Given the description of an element on the screen output the (x, y) to click on. 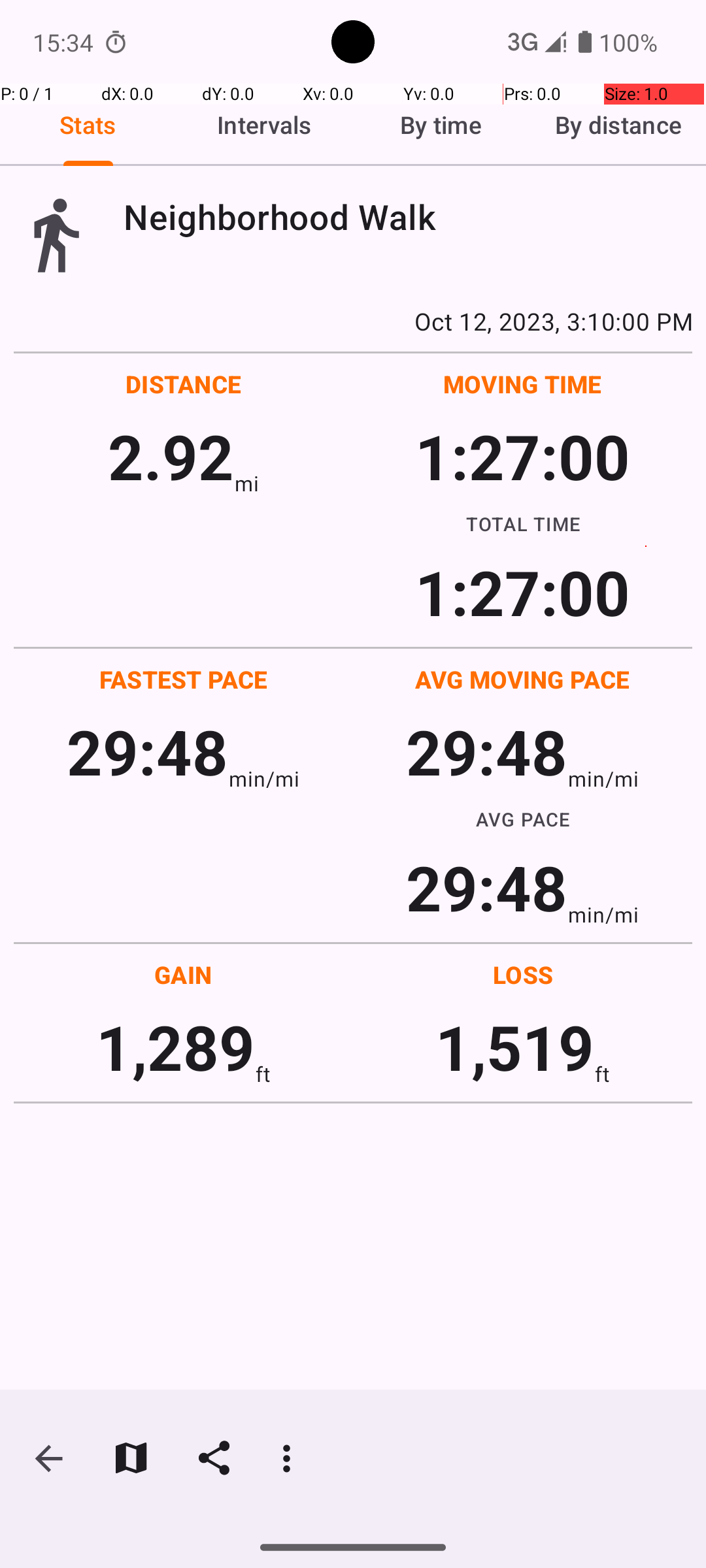
Neighborhood Walk Element type: android.widget.TextView (407, 216)
Oct 12, 2023, 3:10:00 PM Element type: android.widget.TextView (352, 320)
2.92 Element type: android.widget.TextView (170, 455)
1:27:00 Element type: android.widget.TextView (522, 455)
FASTEST PACE Element type: android.widget.TextView (183, 678)
AVG MOVING PACE Element type: android.widget.TextView (522, 678)
29:48 Element type: android.widget.TextView (147, 750)
min/mi Element type: android.widget.TextView (264, 778)
AVG PACE Element type: android.widget.TextView (522, 818)
1,289 Element type: android.widget.TextView (175, 1045)
1,519 Element type: android.widget.TextView (514, 1045)
